Given the description of an element on the screen output the (x, y) to click on. 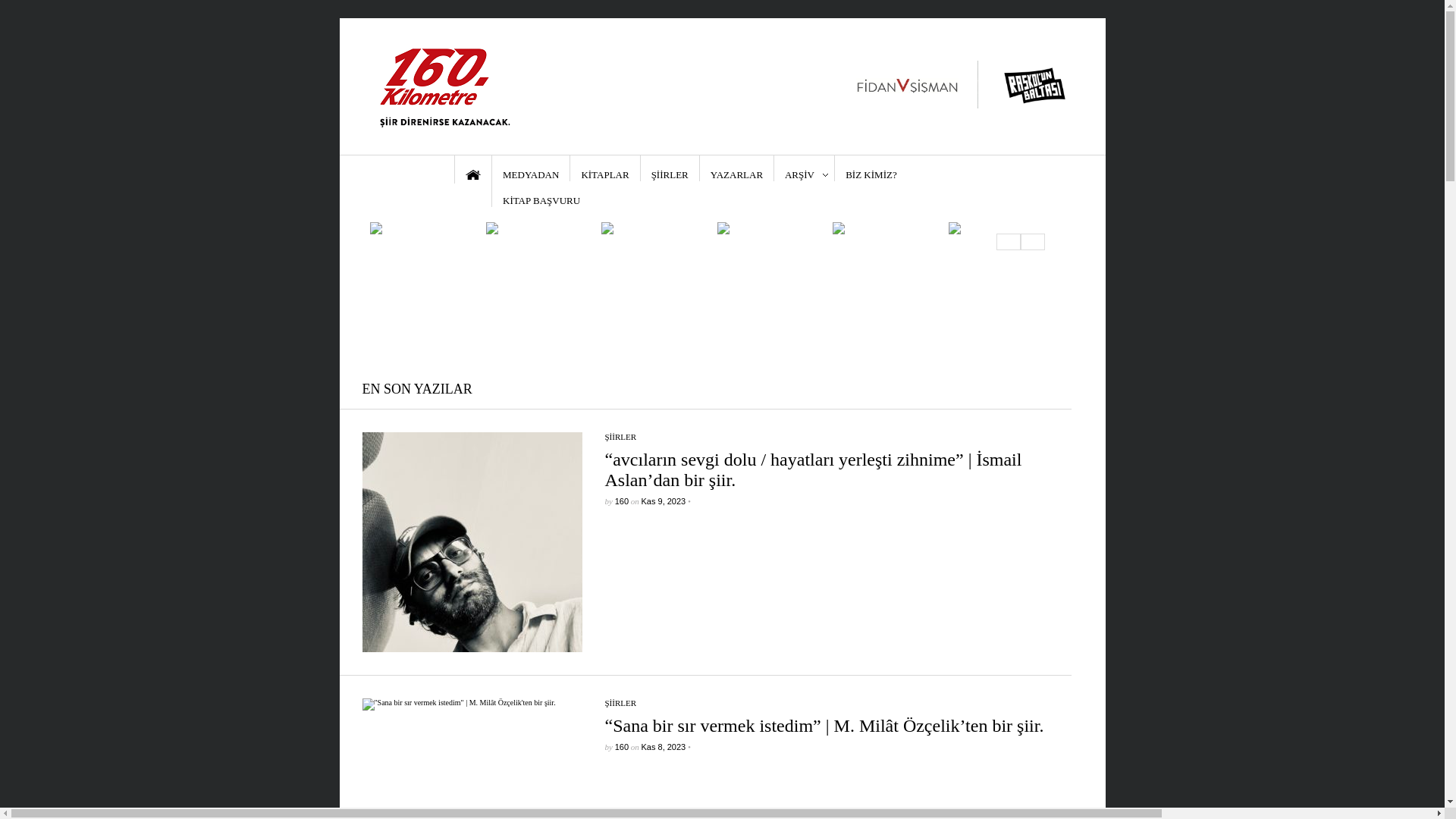
160 Element type: text (621, 500)
BIZ KIMIZ? Element type: text (871, 168)
MEDYADAN Element type: text (530, 168)
YAZARLAR Element type: text (736, 168)
160 Element type: text (621, 746)
